Given the description of an element on the screen output the (x, y) to click on. 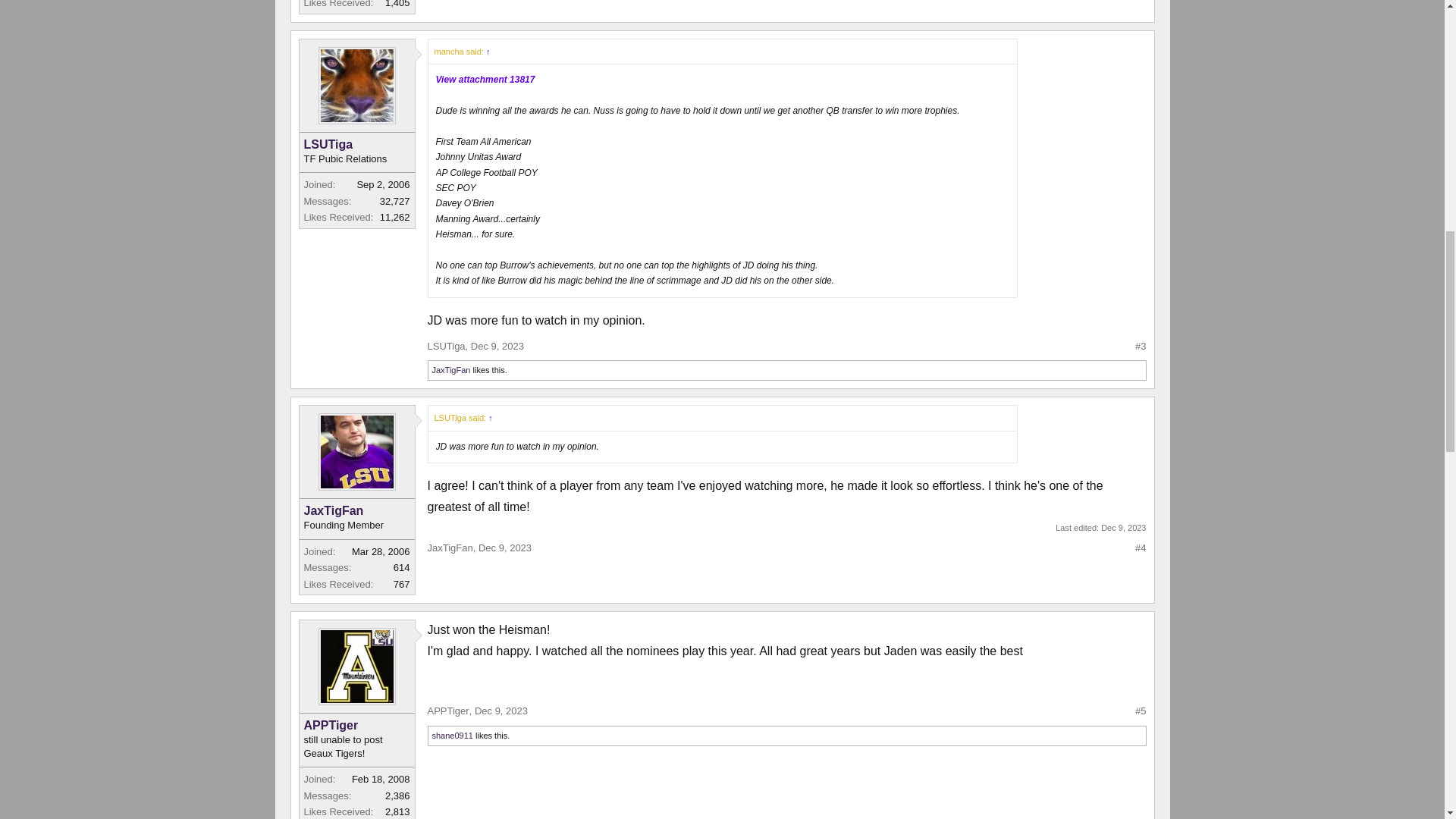
JaxTigFan (355, 510)
LSUTiga (355, 144)
Permalink (505, 547)
Permalink (500, 710)
JaxTigFan (451, 369)
View attachment 13817 (485, 79)
32,727 (395, 201)
614 (401, 567)
Dec 9, 2023 at 6:22 PM (1122, 527)
Dec 9, 2023 (497, 346)
